Given the description of an element on the screen output the (x, y) to click on. 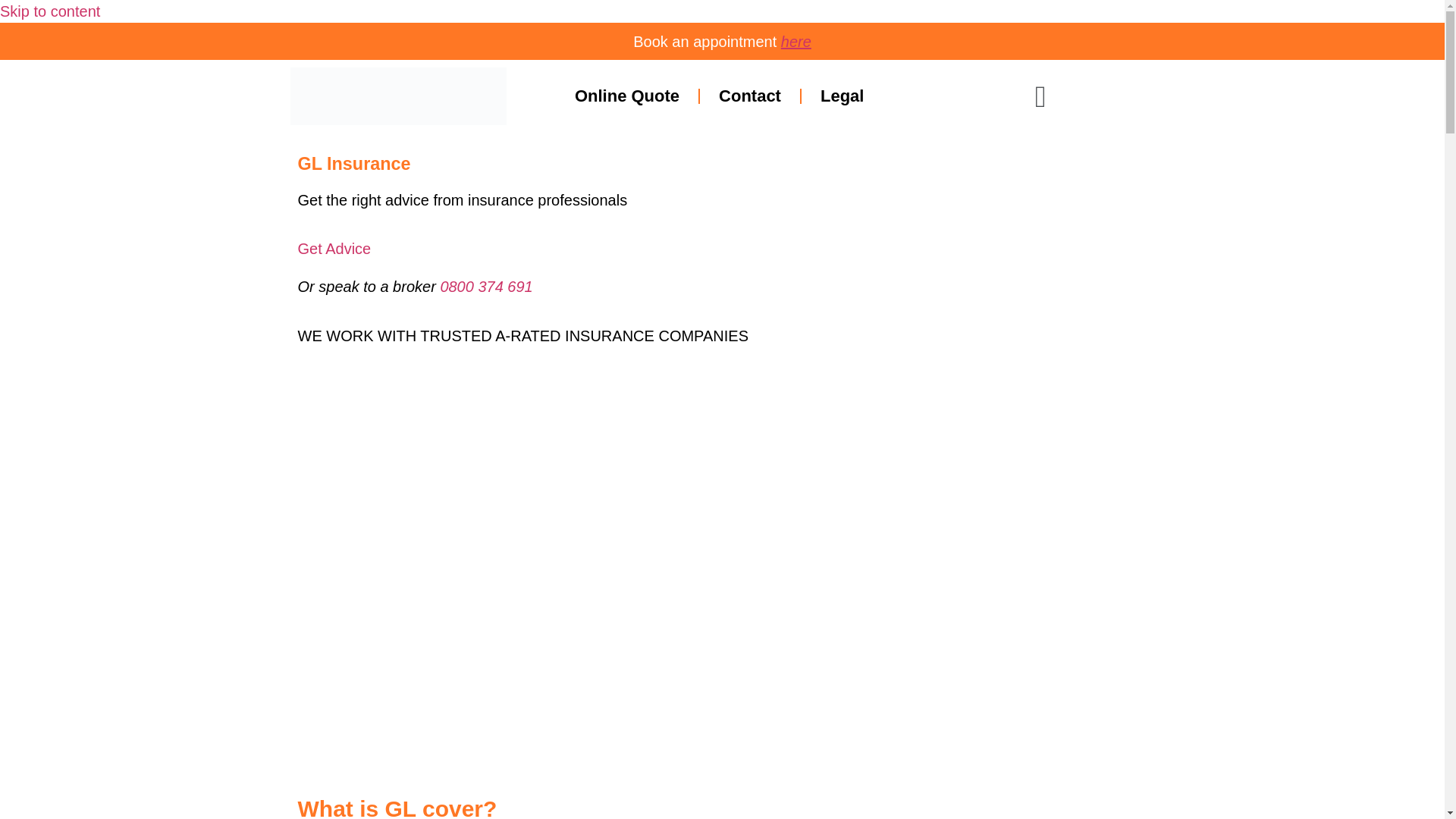
Skip to content (50, 11)
Legal (842, 95)
here (795, 41)
Contact (749, 95)
Online Quote (627, 95)
